Given the description of an element on the screen output the (x, y) to click on. 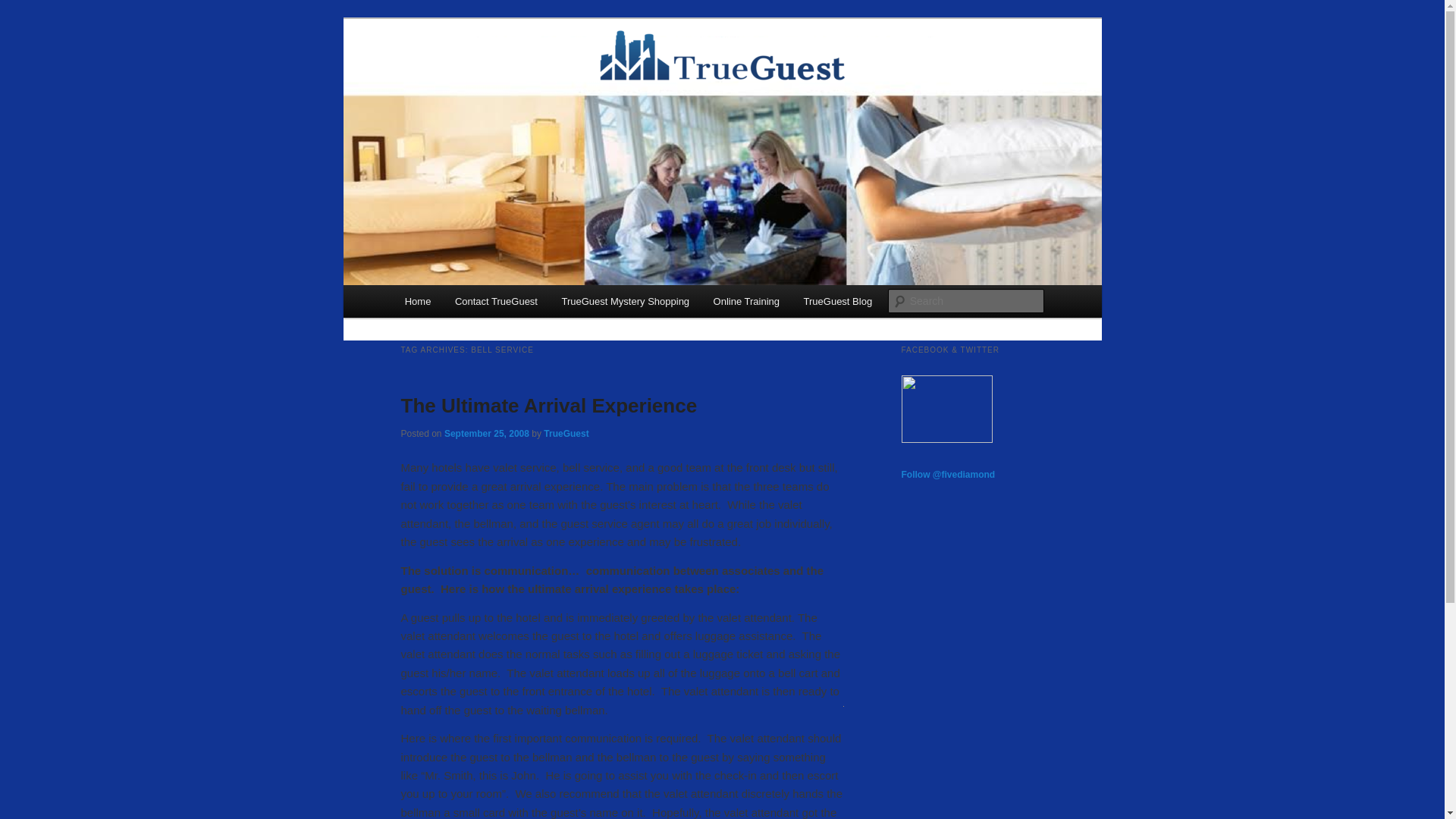
View all posts by TrueGuest (565, 433)
Online Training (746, 301)
Skip to primary content (472, 303)
TrueGuest Mystery Shopping (625, 301)
Five Diamond Hospitality (946, 439)
Skip to primary content (472, 303)
TrueGuest (456, 72)
Contact TrueGuest (496, 301)
Skip to secondary content (479, 303)
The Ultimate Arrival Experience (548, 404)
